Given the description of an element on the screen output the (x, y) to click on. 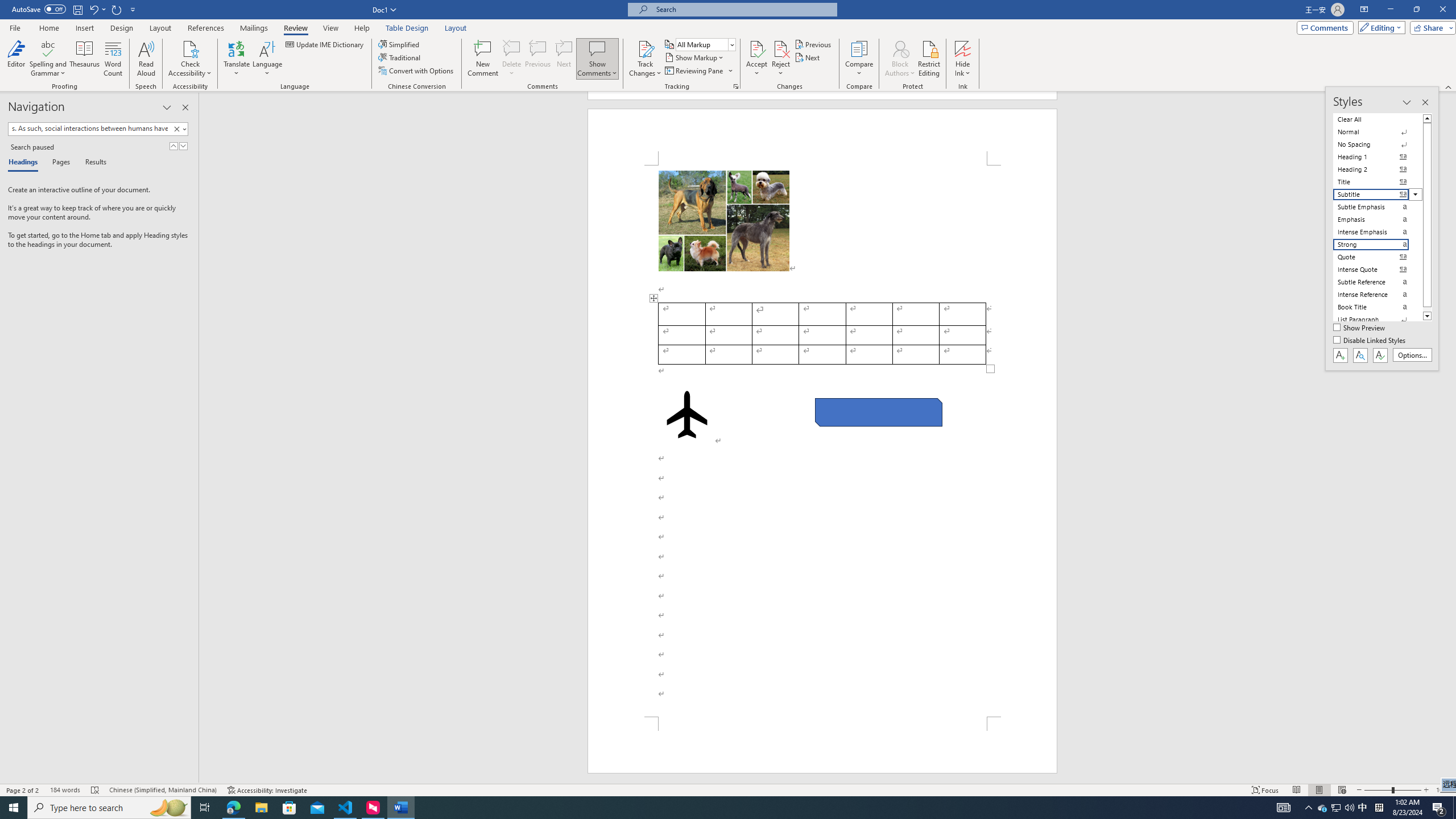
Translate (236, 58)
Convert with Options... (417, 69)
Show Comments (597, 58)
Next (808, 56)
Word Count 184 words (64, 790)
Compare (859, 58)
Heading 2 (1377, 169)
List Paragraph (1377, 319)
